Given the description of an element on the screen output the (x, y) to click on. 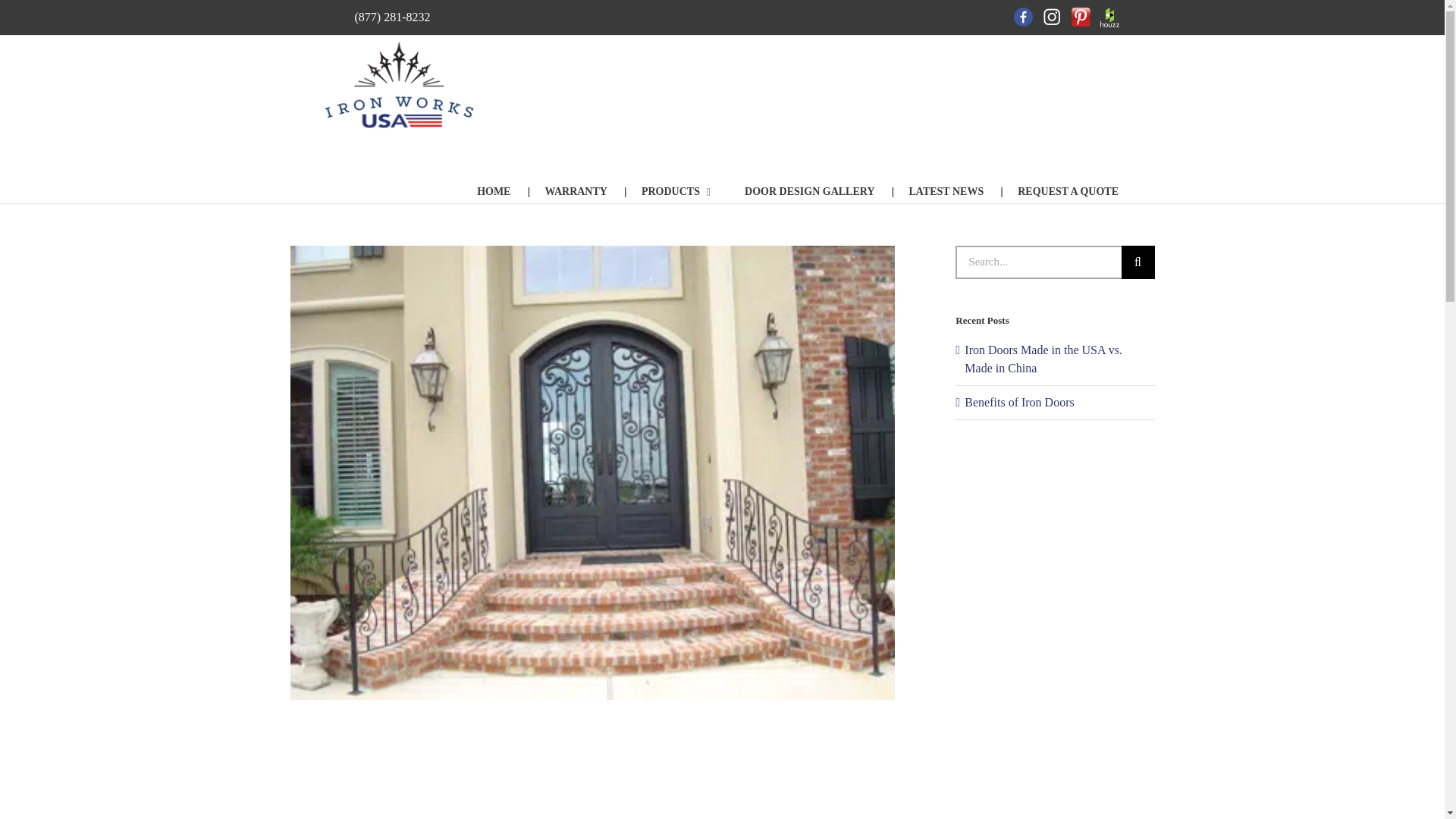
WARRANTY (575, 191)
Houzz (1110, 17)
DOOR DESIGN GALLERY (809, 191)
PRODUCTS (675, 191)
Pinrest (1081, 16)
Instagram (1052, 16)
Houzz (1110, 17)
Pinrest (1081, 16)
LATEST NEWS (945, 191)
Instagram (1052, 16)
HOME (493, 191)
Facebook (1023, 16)
Facebook (1023, 16)
REQUEST A QUOTE (1068, 191)
